Given the description of an element on the screen output the (x, y) to click on. 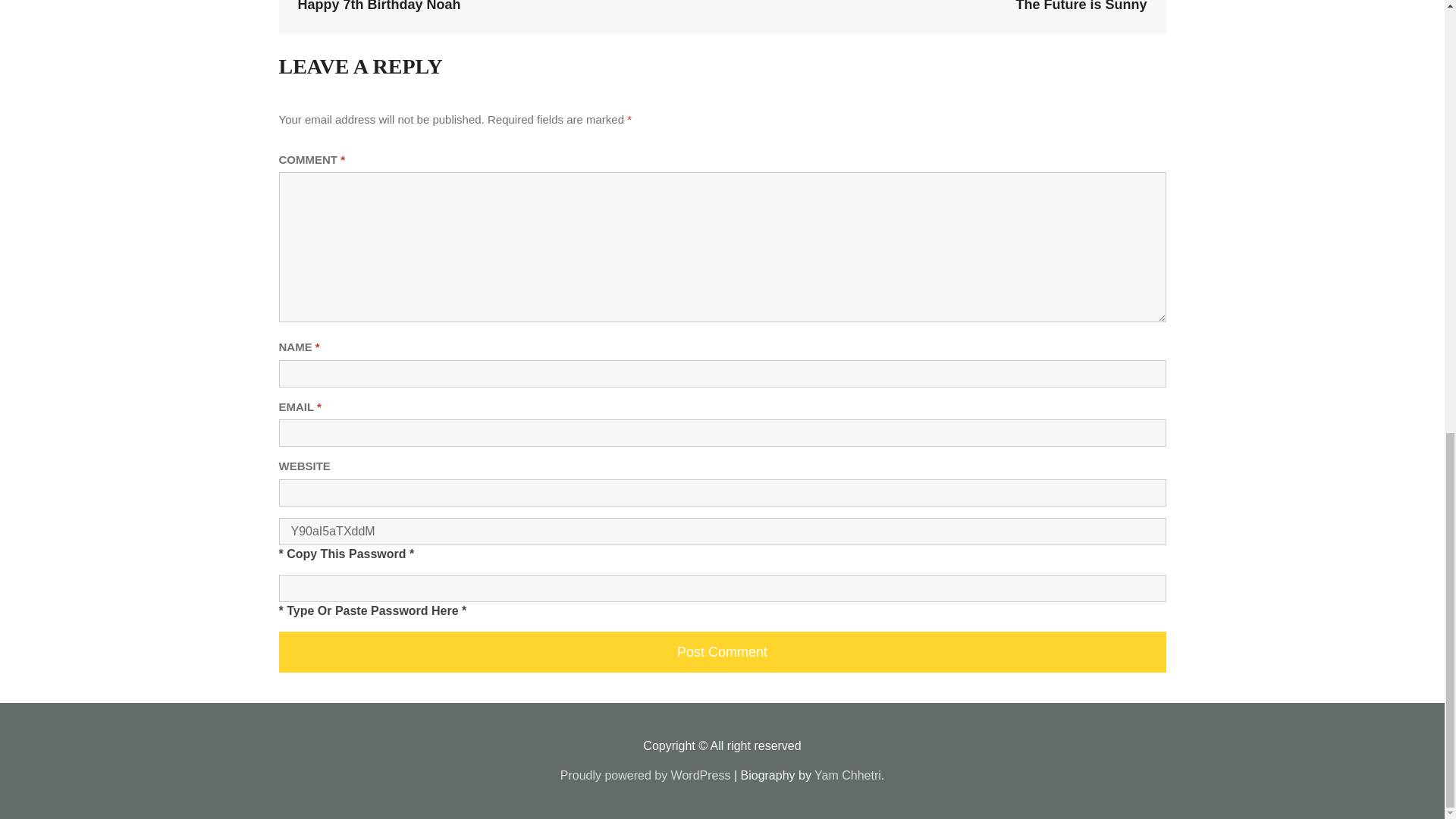
The Future is Sunny (1080, 6)
Post Comment (722, 651)
Y90aI5aTXddM (722, 531)
Yam Chhetri (846, 775)
Proudly powered by WordPress (645, 775)
Post Comment (722, 651)
Happy 7th Birthday Noah (378, 6)
